Given the description of an element on the screen output the (x, y) to click on. 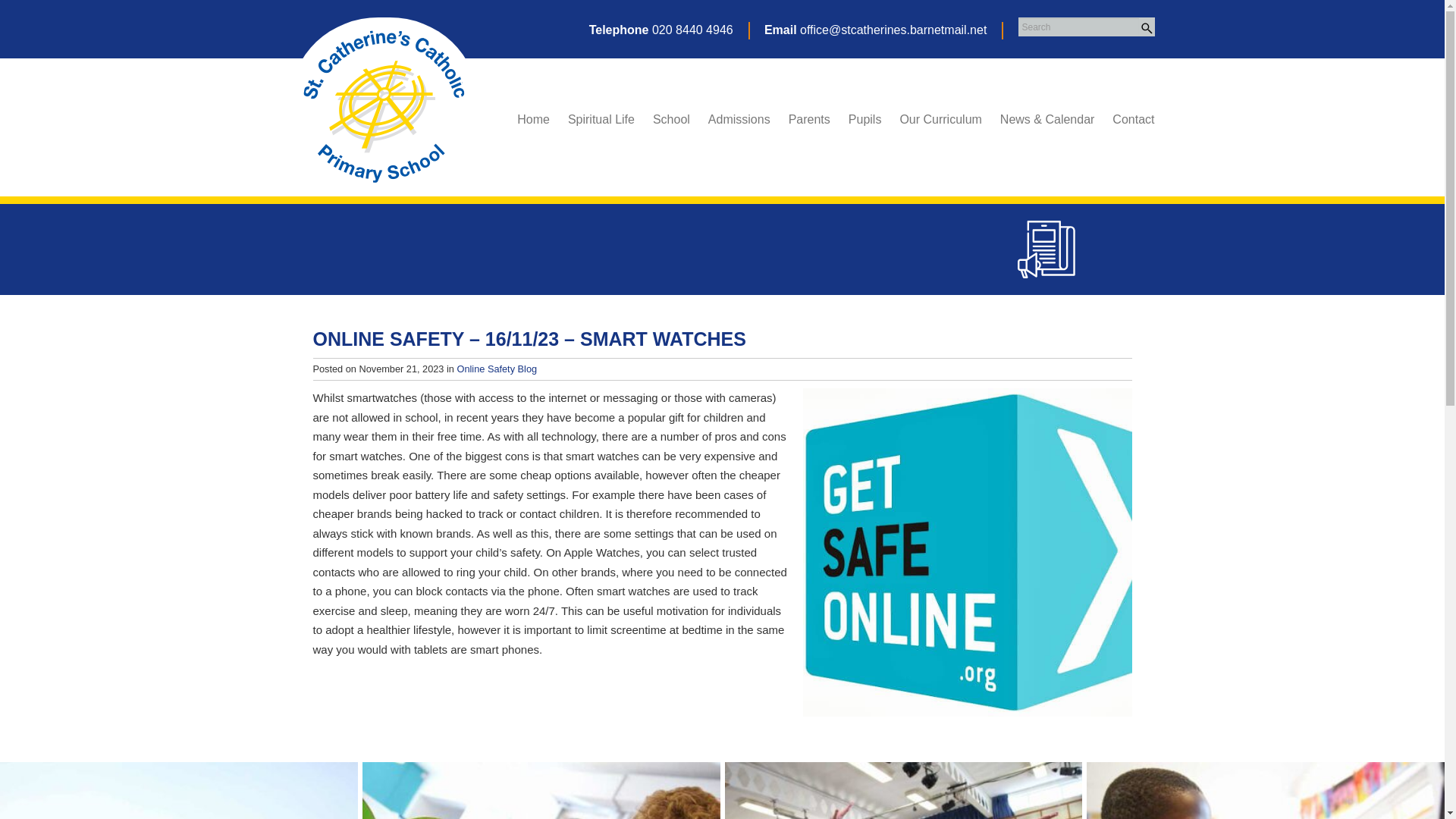
Admissions (738, 119)
Home (533, 119)
School (671, 119)
Spiritual Life (600, 119)
Parents (809, 119)
020 8440 4946 (692, 29)
